Given the description of an element on the screen output the (x, y) to click on. 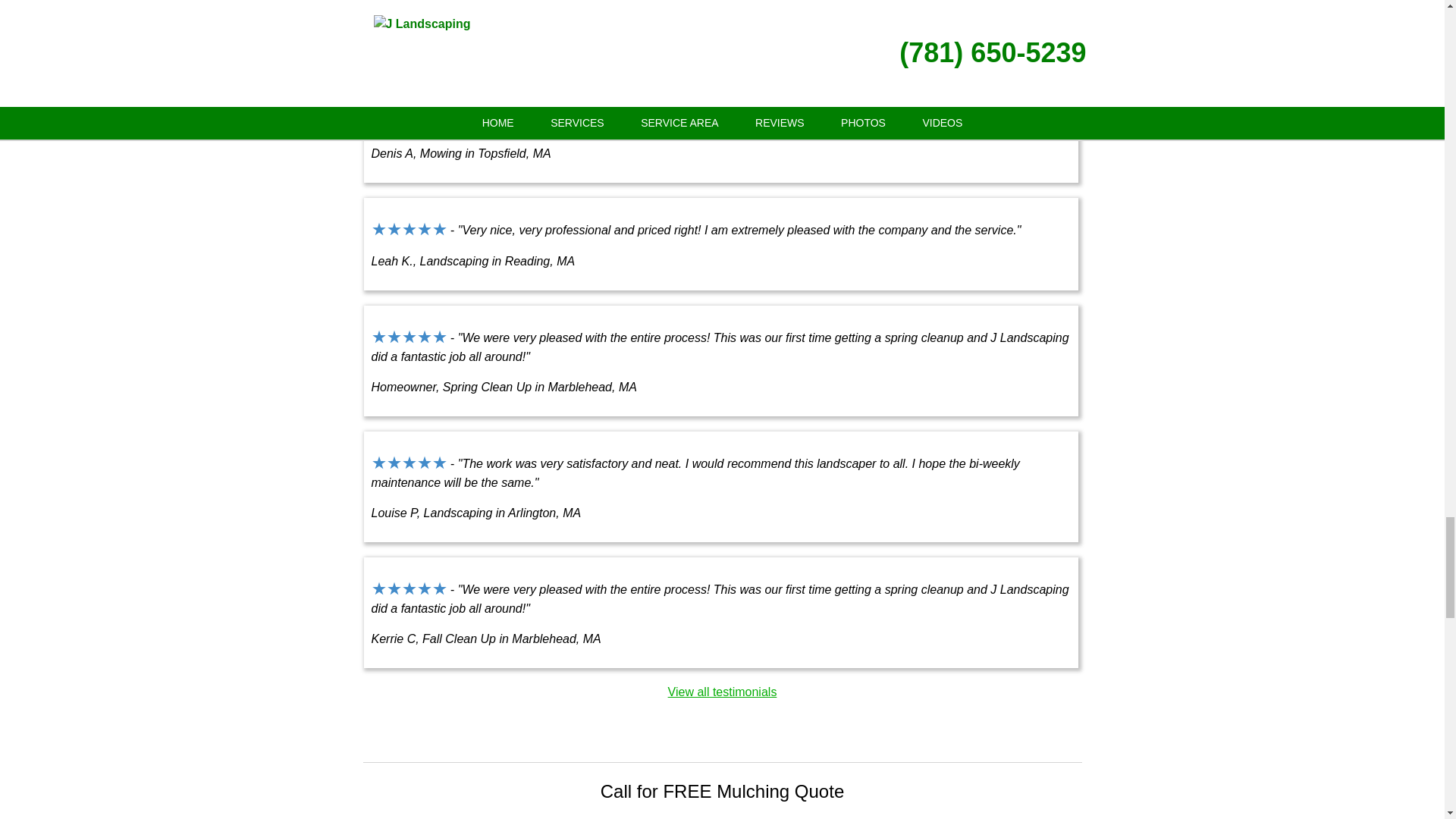
View all testimonials (722, 691)
